Given the description of an element on the screen output the (x, y) to click on. 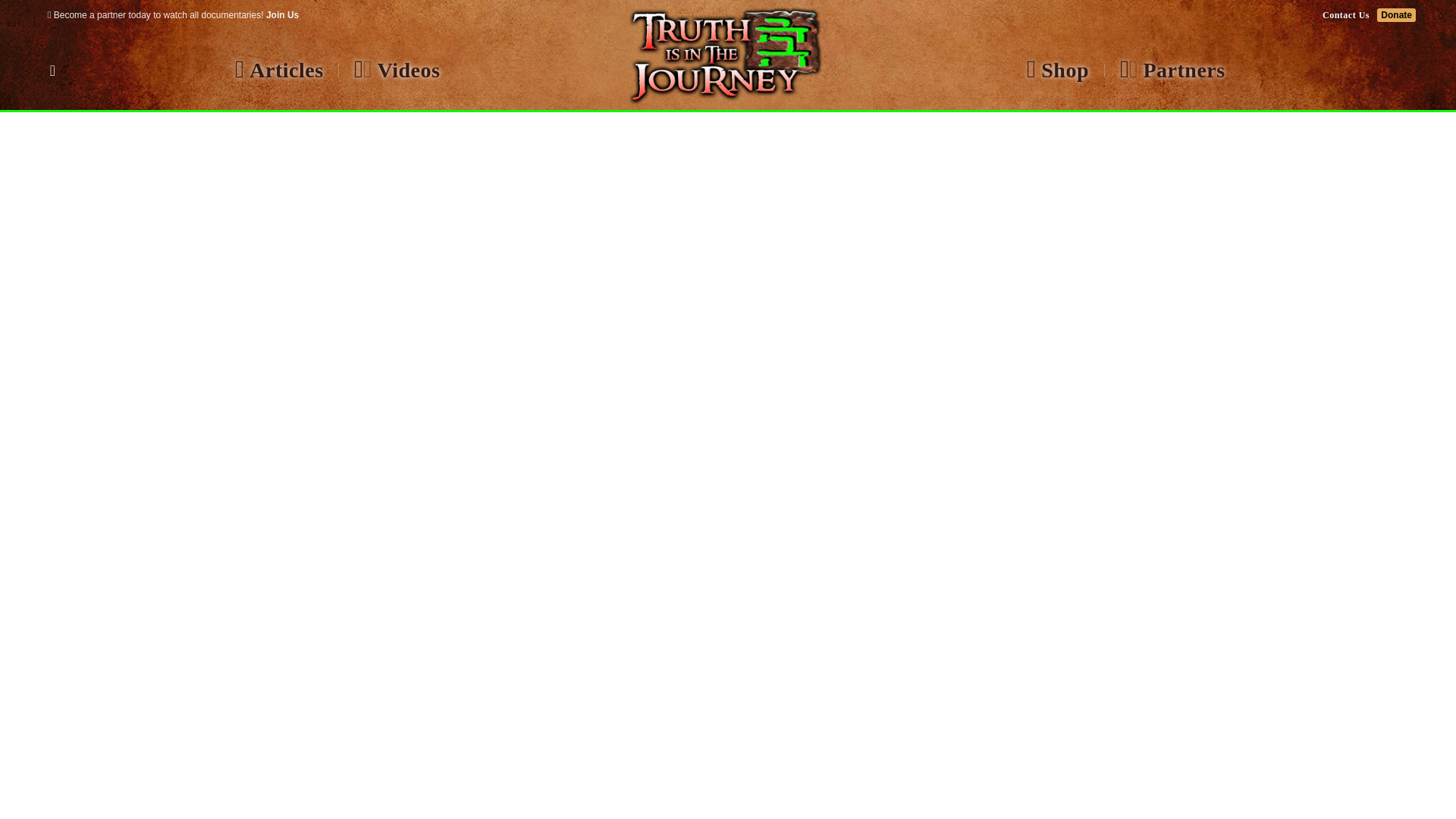
Donate (1396, 14)
Become a partner today to watch all documentaries! Join Us (173, 14)
Partners (1172, 69)
Articles (278, 69)
Videos (396, 69)
Contact Us (1346, 15)
Shop (1057, 69)
